Given the description of an element on the screen output the (x, y) to click on. 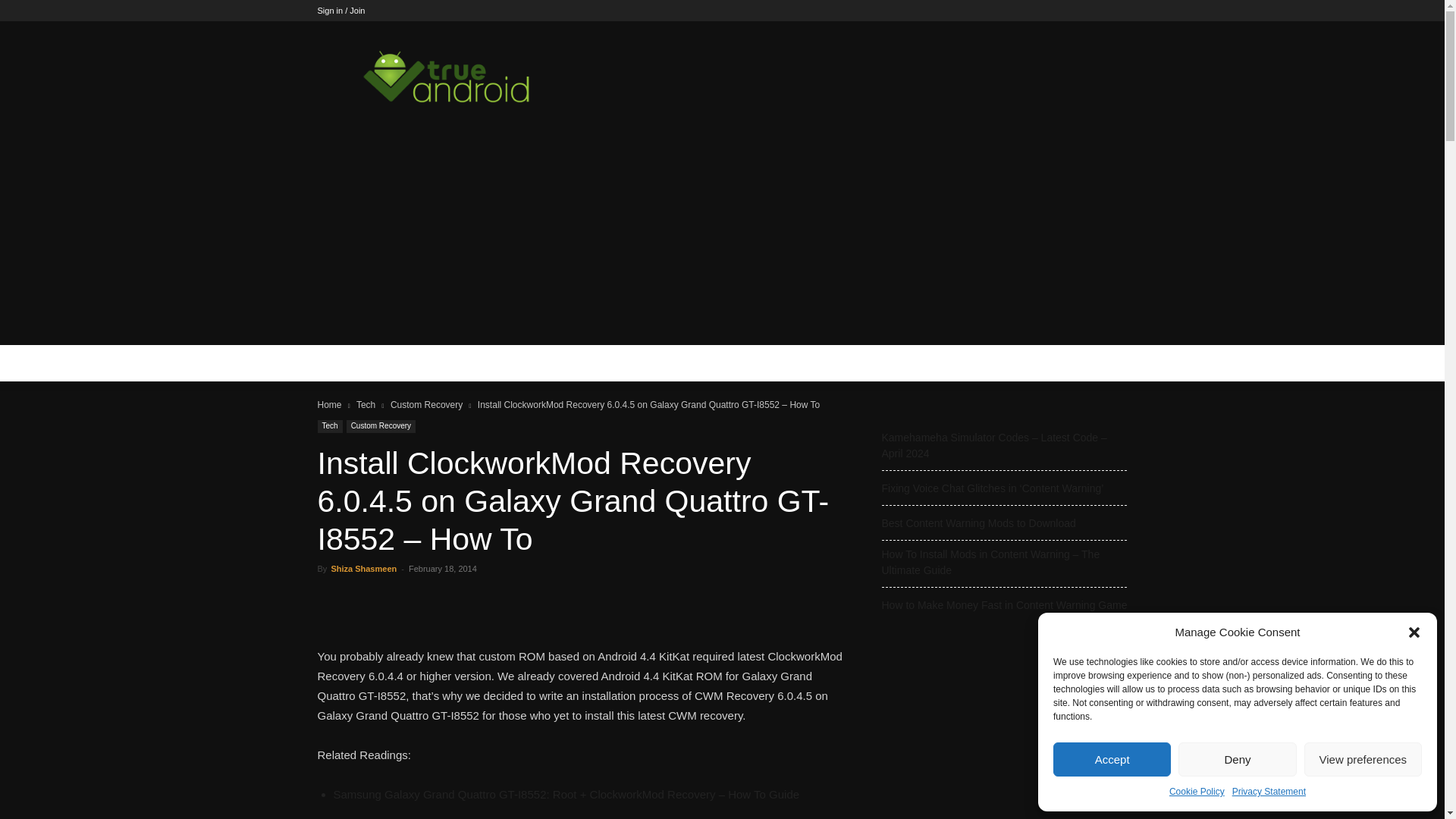
Privacy Statement (1268, 791)
Accept (1111, 759)
GADGETS (521, 362)
OFFBEAT (600, 362)
View all posts in Custom Recovery (426, 404)
Deny (1236, 759)
View all posts in Tech (365, 404)
TECH (394, 362)
GAMING (453, 362)
HOME (343, 362)
